Given the description of an element on the screen output the (x, y) to click on. 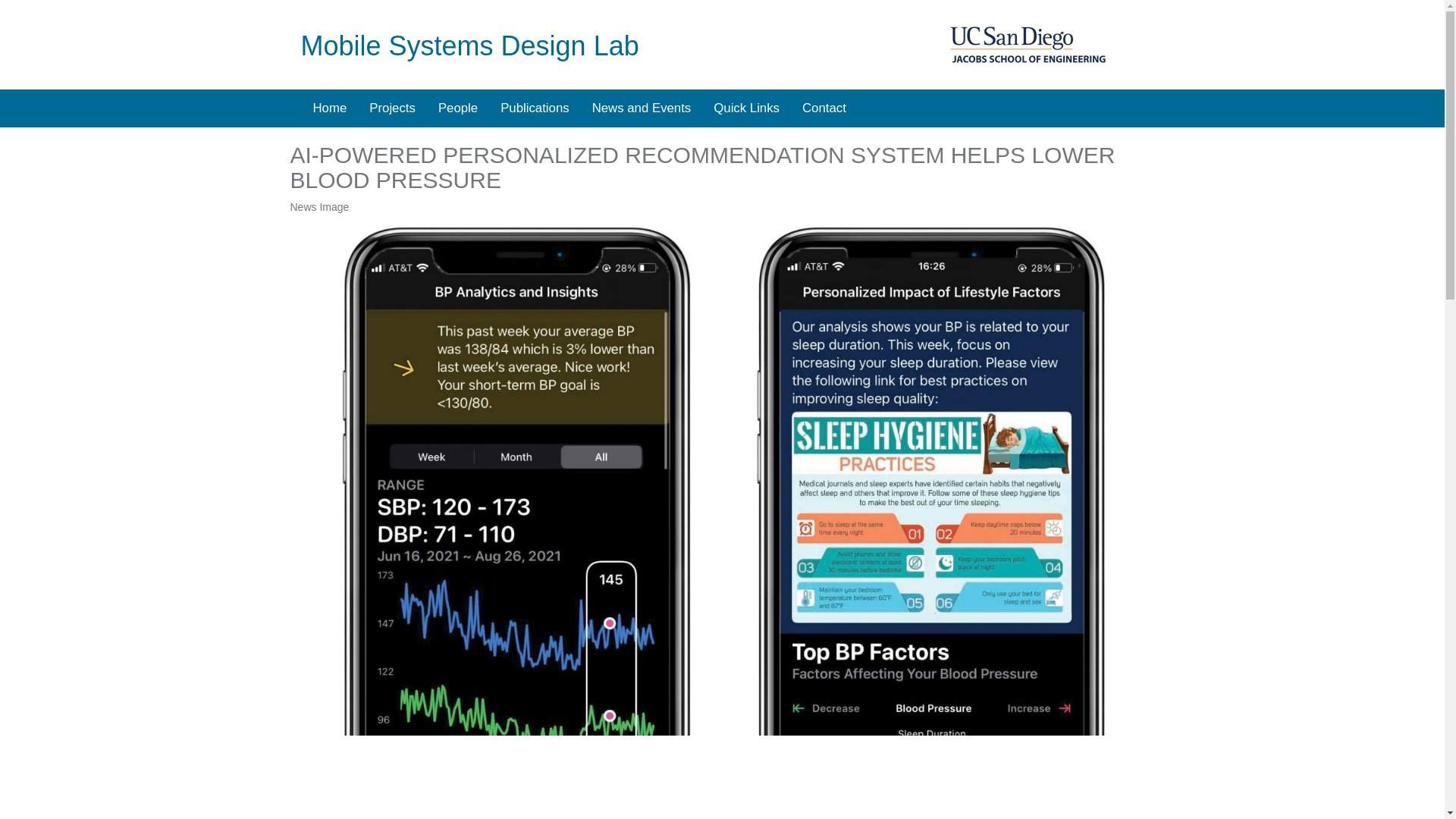
News and Events (641, 108)
Quick Links (745, 108)
links (745, 108)
Publications (534, 108)
Publications (534, 108)
projects (392, 108)
MESDAT Events (641, 108)
Contact (823, 108)
People (457, 108)
Mobile Systems Design Lab (469, 45)
Projects (392, 108)
Home (329, 108)
People (457, 108)
